Given the description of an element on the screen output the (x, y) to click on. 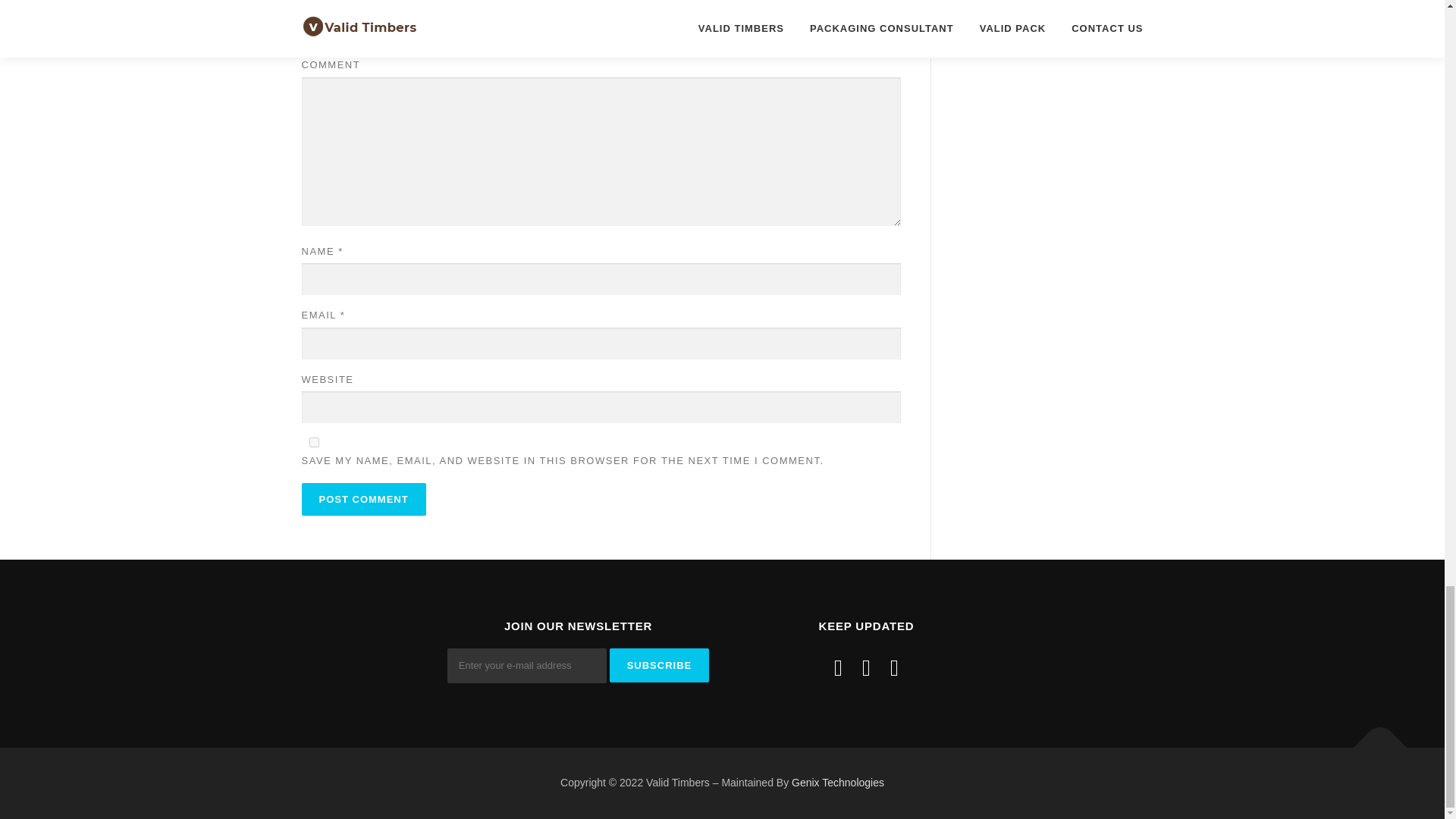
Post Comment (363, 499)
Subscribe (660, 665)
Back To Top (1372, 740)
Subscribe (660, 665)
yes (313, 442)
Post Comment (363, 499)
